Given the description of an element on the screen output the (x, y) to click on. 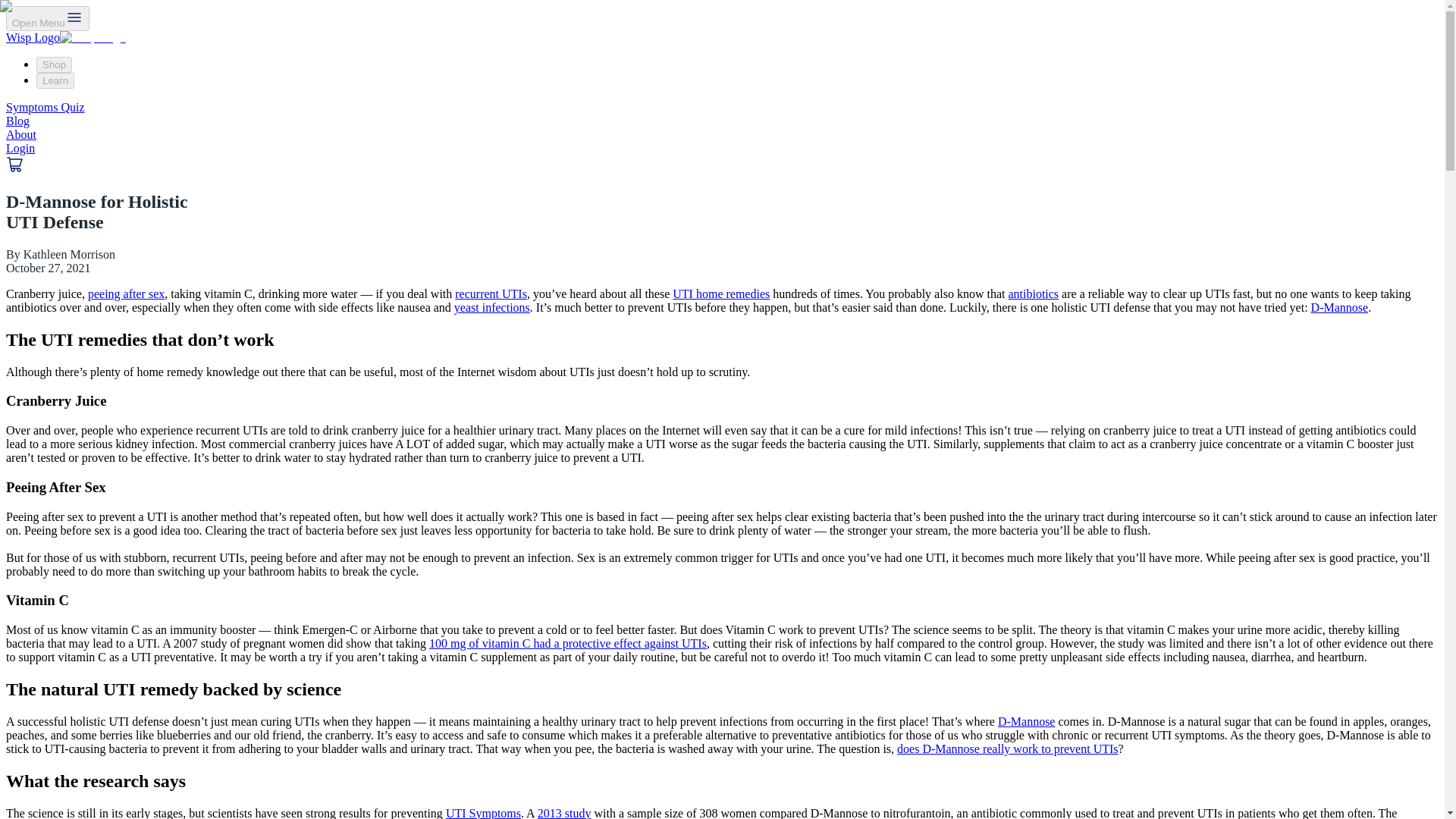
UTI Symptoms (483, 812)
Shop (53, 64)
Login (19, 147)
UTI home remedies (721, 293)
D-Mannose (1026, 721)
Wisp Logo (65, 37)
2013 study (564, 812)
yeast infections (491, 307)
D-Mannose (1339, 307)
antibiotics (1032, 293)
Learn (55, 80)
About (20, 133)
Blog (17, 120)
recurrent UTIs (490, 293)
Symptoms Quiz (44, 106)
